Given the description of an element on the screen output the (x, y) to click on. 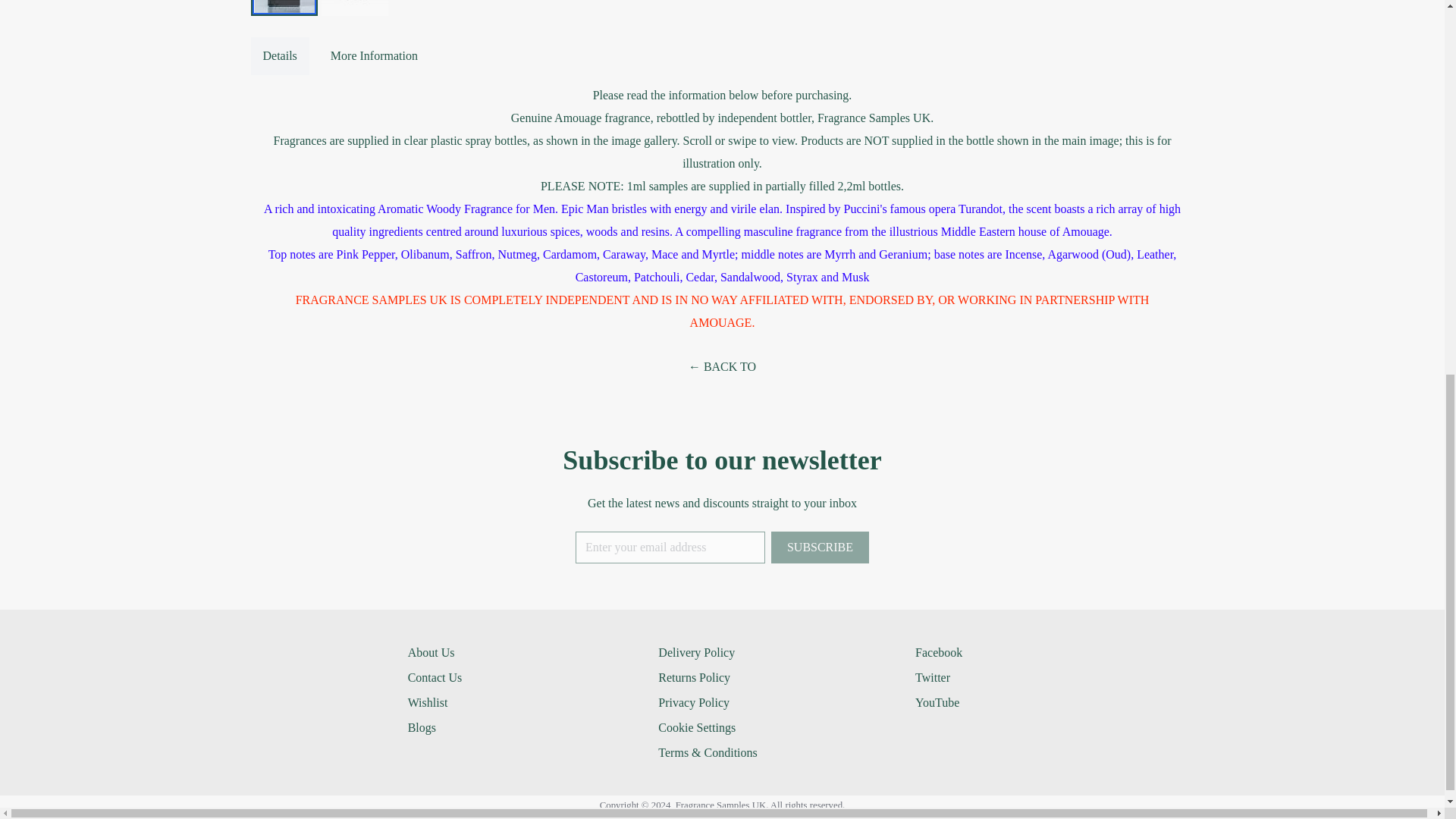
More Information (373, 56)
Details (279, 56)
Blogs (421, 727)
Subscribe (820, 547)
Fragrance Samples UK on YouTube (933, 702)
Contact Us (435, 676)
Wishlist (427, 702)
Delivery Policy (696, 652)
About Us (430, 652)
View Image (283, 7)
SUBSCRIBE (820, 547)
Fragrance Samples UK on Twitter (929, 676)
View Image (354, 7)
Returns Policy (694, 676)
Fragrance Samples UK on Facebook (935, 652)
